Given the description of an element on the screen output the (x, y) to click on. 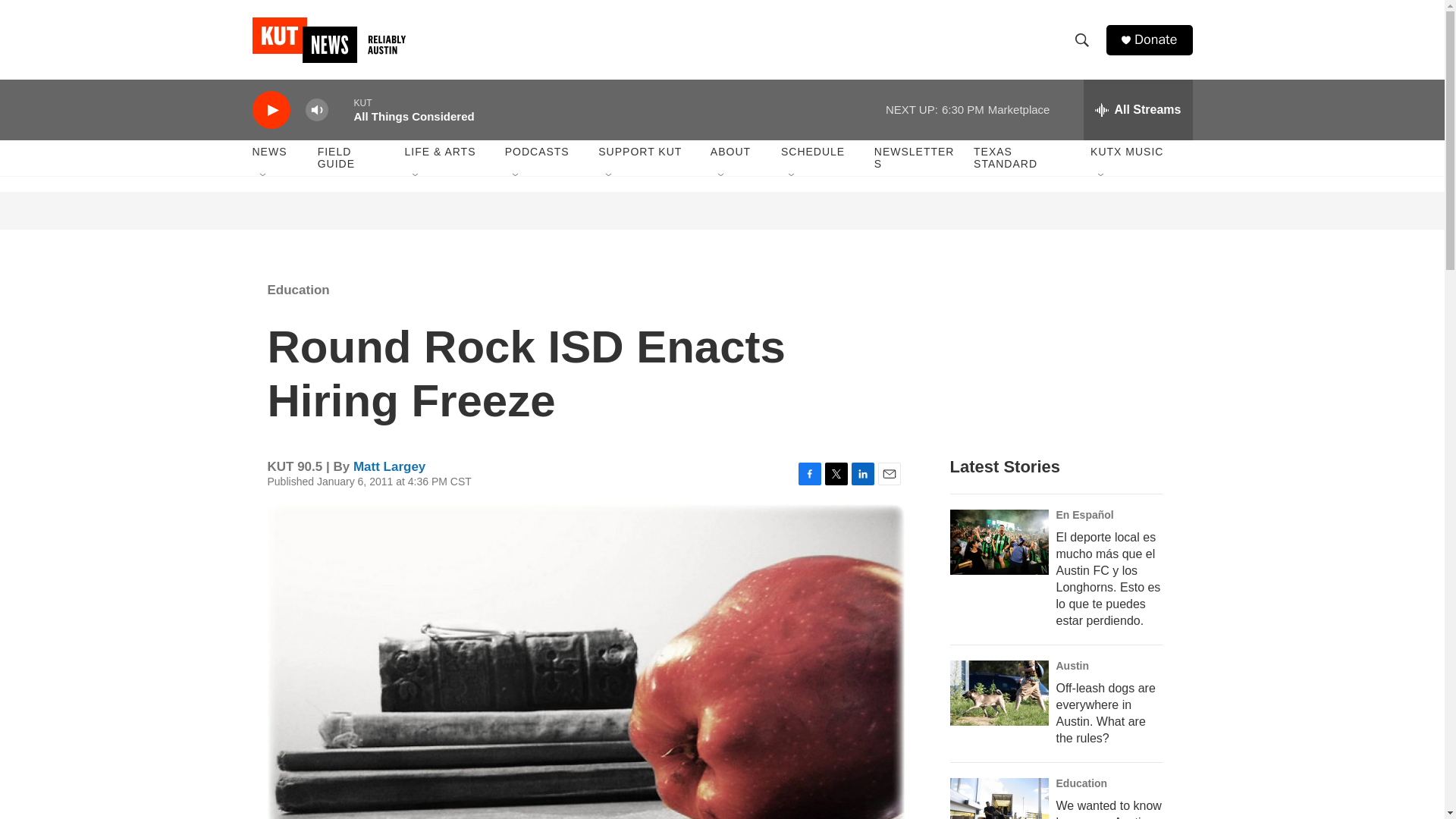
3rd party ad content (1062, 350)
3rd party ad content (722, 210)
